Given the description of an element on the screen output the (x, y) to click on. 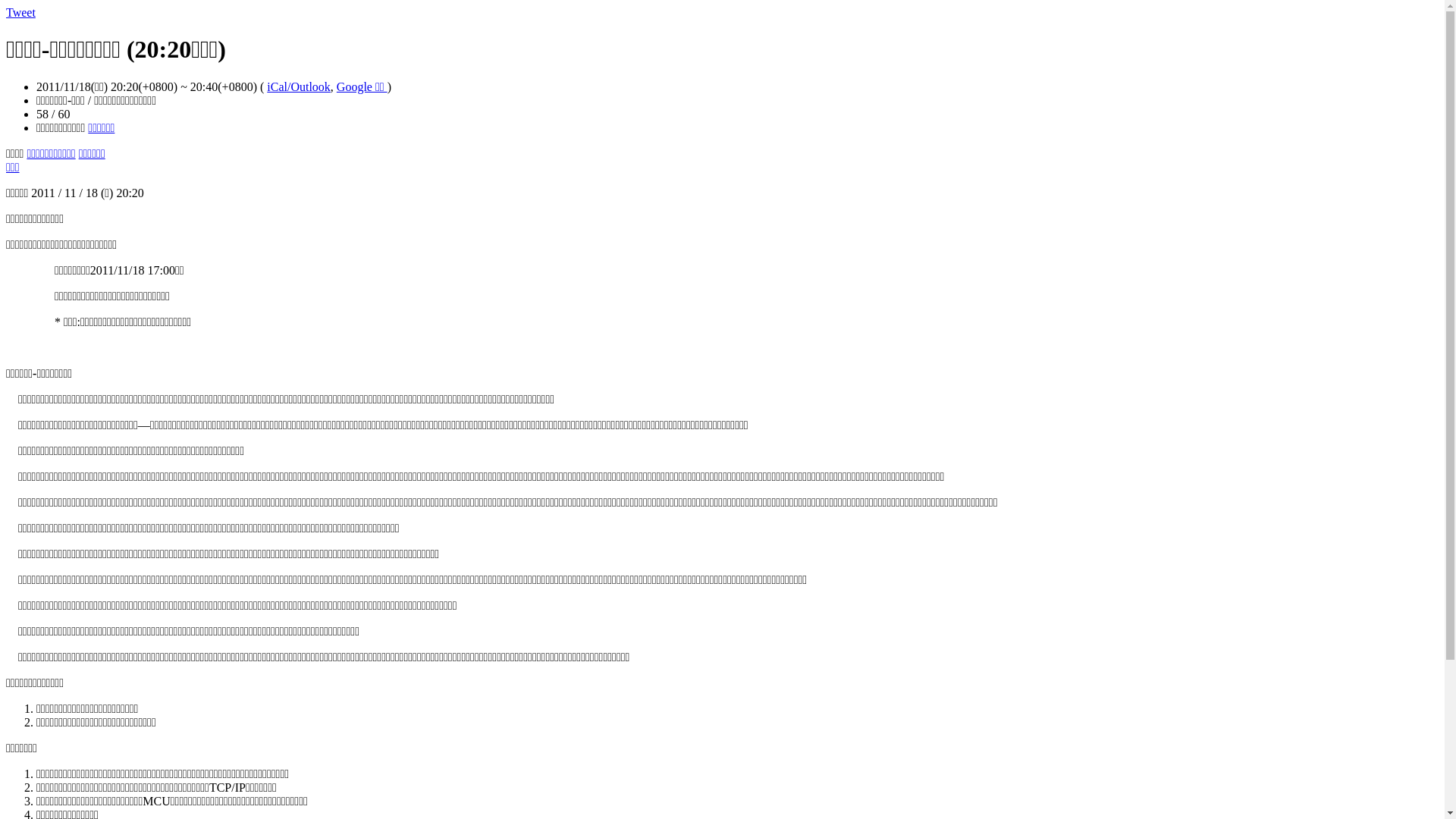
Tweet Element type: text (20, 12)
iCal/Outlook Element type: text (298, 86)
